Given the description of an element on the screen output the (x, y) to click on. 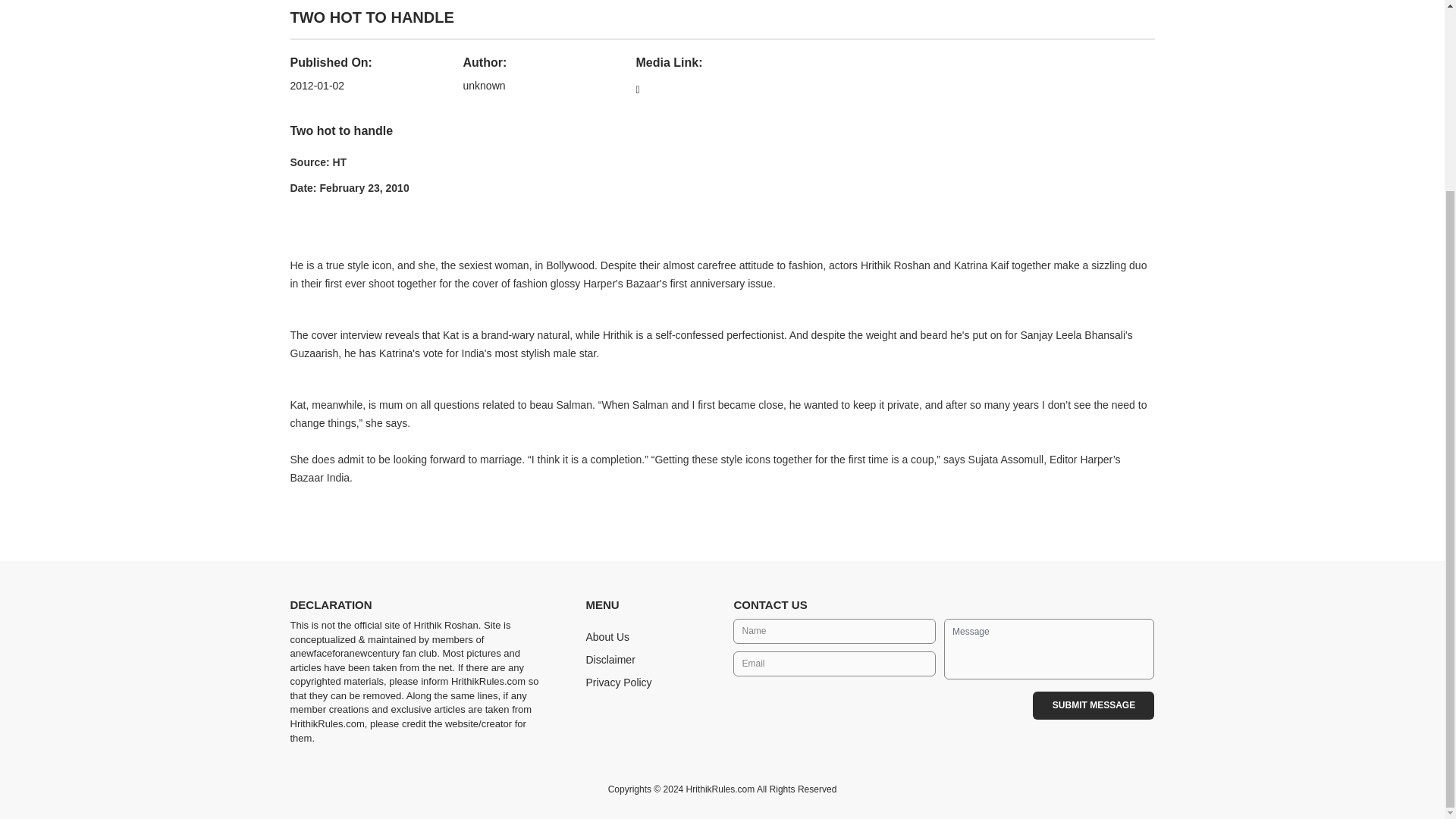
About Us (606, 636)
SUBMIT MESSAGE (1093, 705)
Privacy Policy (617, 682)
Disclaimer (609, 659)
